Given the description of an element on the screen output the (x, y) to click on. 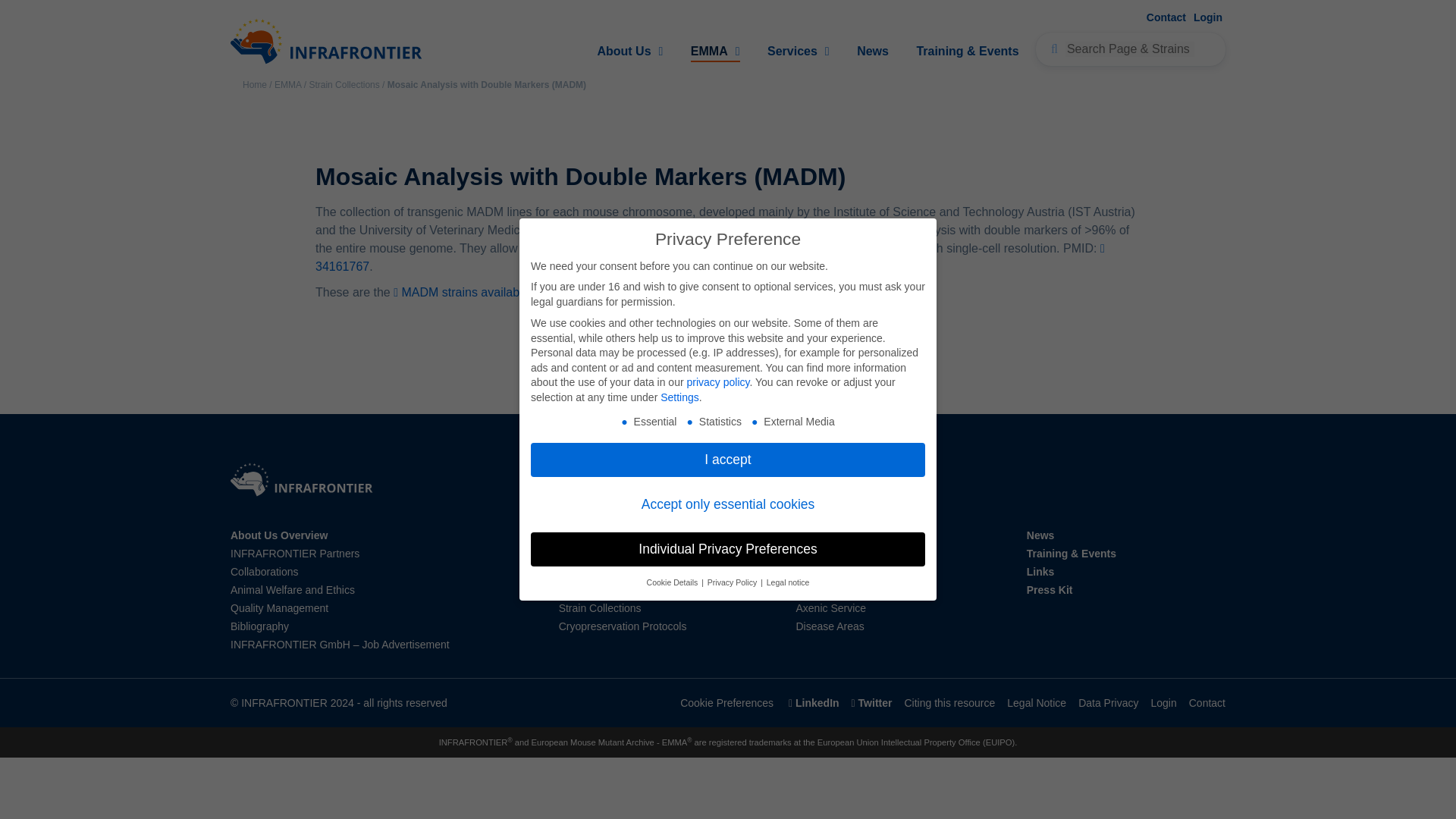
INFRAFRONTIER Partners (294, 553)
Bibliography (259, 625)
Services (798, 52)
EMMA (288, 84)
About Us (629, 52)
MADM strains available (460, 291)
About Us Overview (278, 535)
News (872, 52)
Contact (1165, 17)
Quality Management (279, 607)
